Given the description of an element on the screen output the (x, y) to click on. 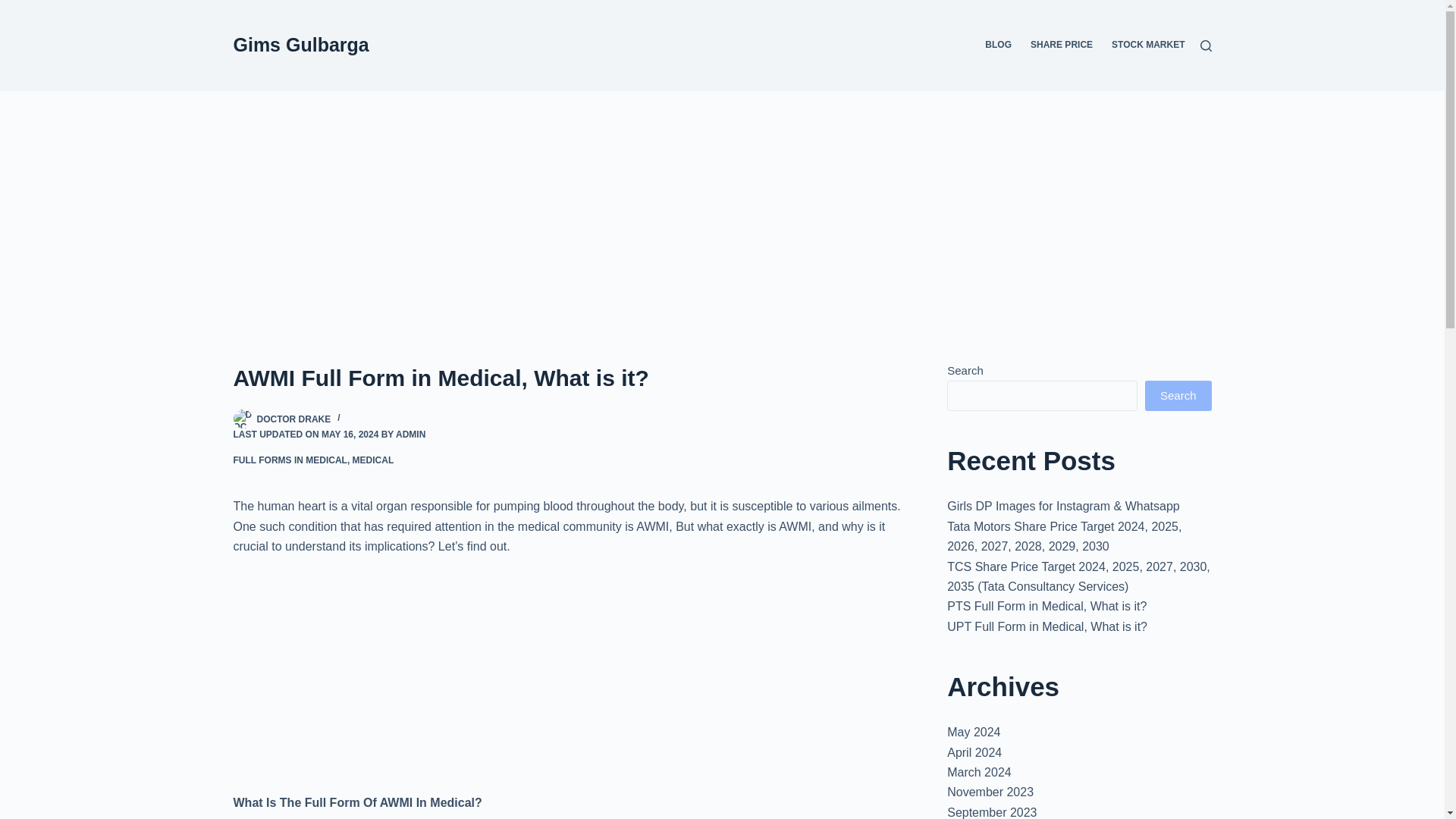
MEDICAL (373, 460)
DOCTOR DRAKE (293, 419)
STOCK MARKET (1143, 45)
UPT Full Form in Medical, What is it? (1047, 626)
AWMI Full Form in Medical, What is it? (570, 377)
November 2023 (990, 791)
FULL FORMS IN MEDICAL (289, 460)
May 2024 (973, 731)
March 2024 (979, 771)
